Given the description of an element on the screen output the (x, y) to click on. 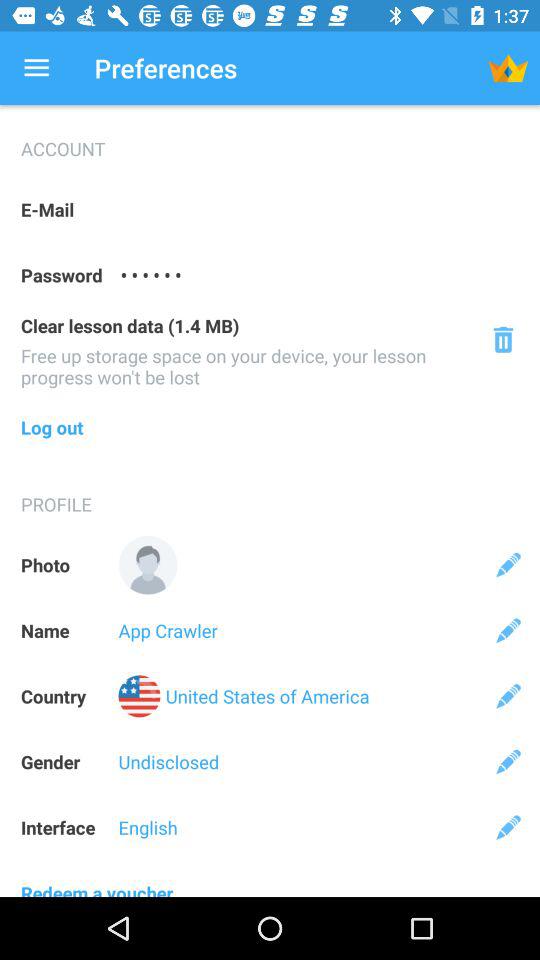
select interface language (508, 827)
